Given the description of an element on the screen output the (x, y) to click on. 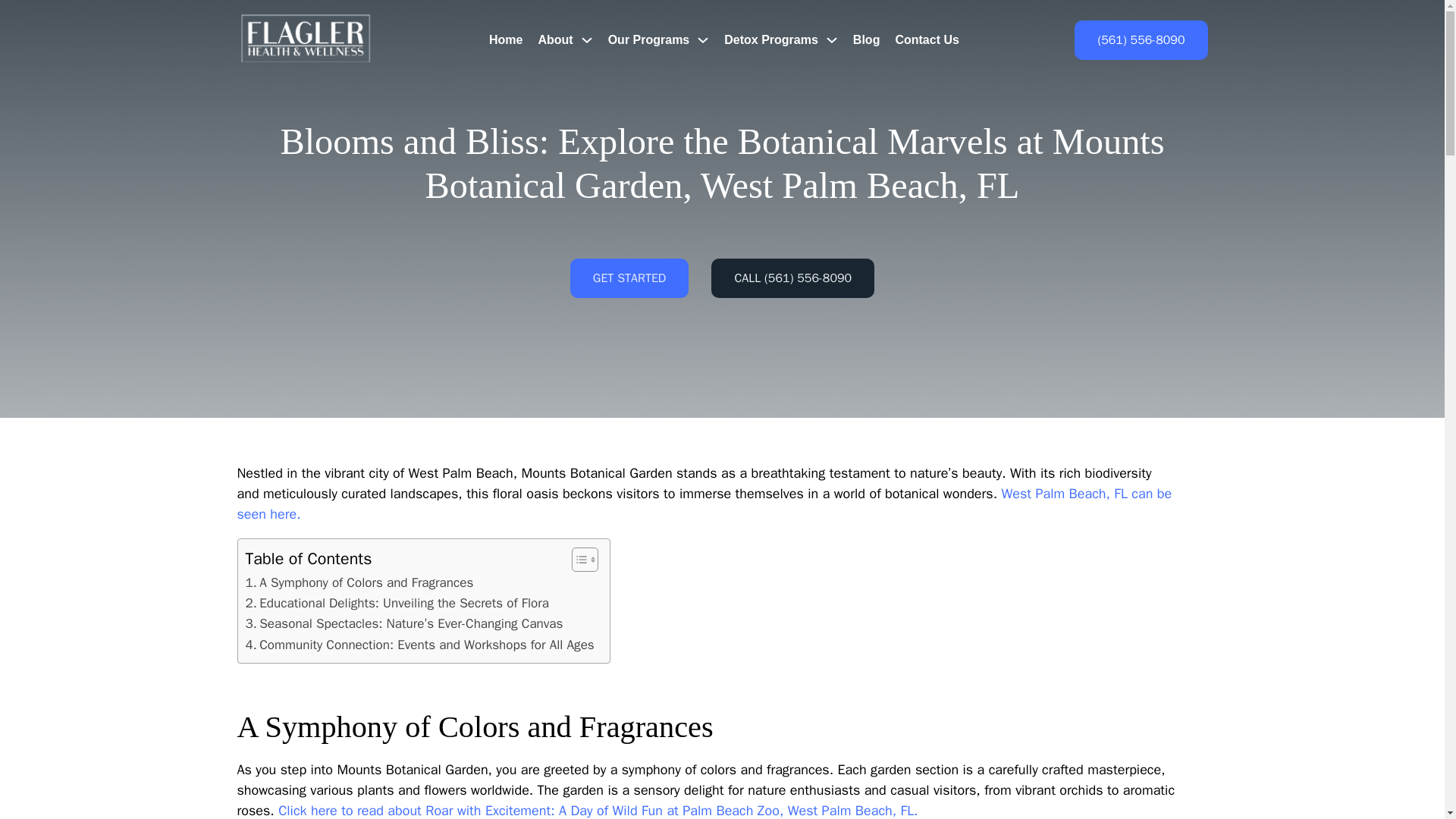
About (554, 40)
Contact Us (926, 40)
Educational Delights: Unveiling the Secrets of Flora (397, 602)
Community Connection: Events and Workshops for All Ages (420, 644)
Detox Programs (770, 40)
A Symphony of Colors and Fragrances (360, 582)
Home (505, 40)
Blog (866, 40)
Our Programs (649, 40)
